Given the description of an element on the screen output the (x, y) to click on. 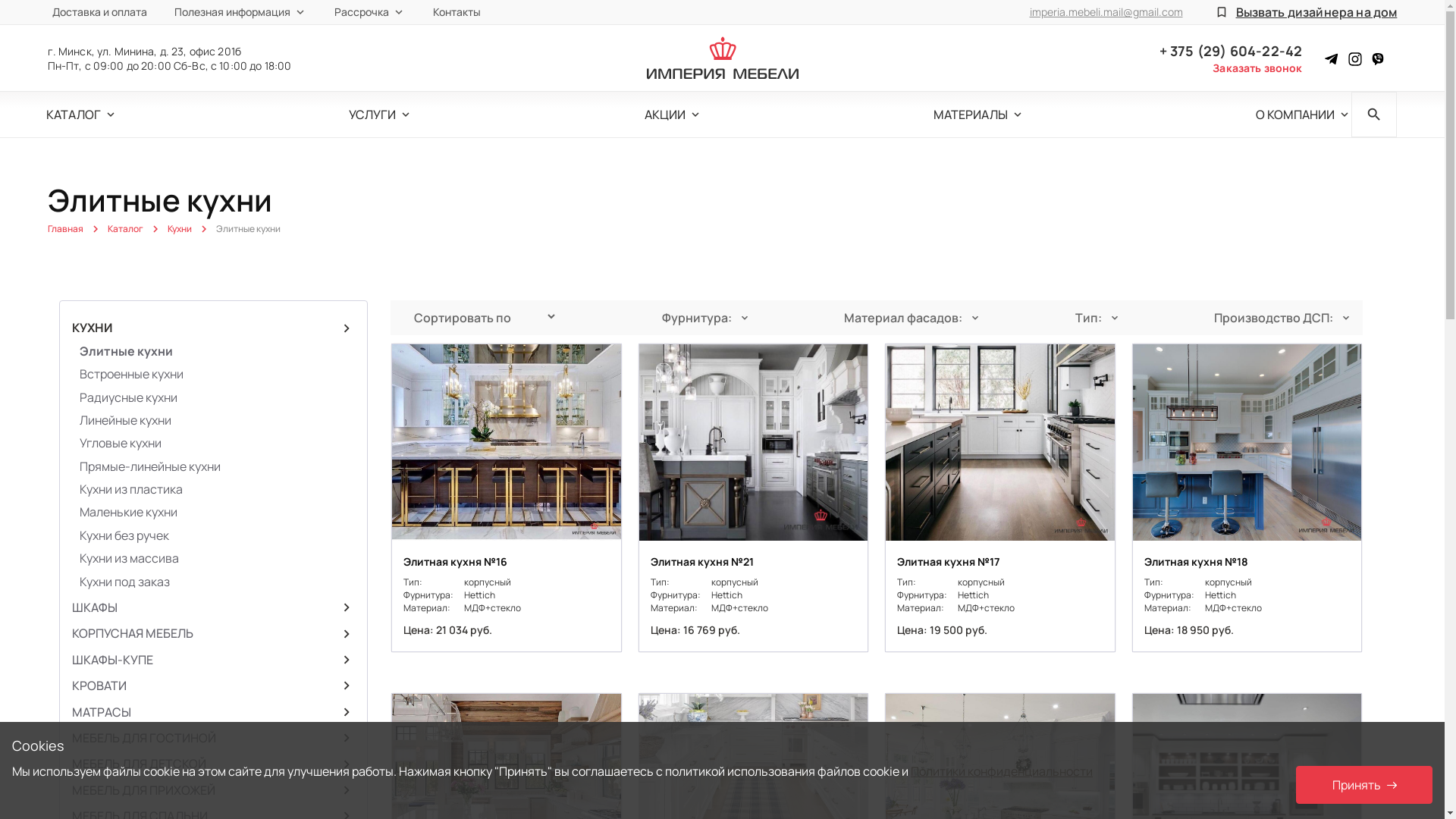
chevron_right Element type: text (213, 327)
imperia.mebeli.mail@gmail.com Element type: text (1106, 11)
Instagram Element type: hover (1331, 58)
Instagram Element type: hover (1377, 58)
Imperia Mebeli Element type: hover (721, 57)
Instagram Element type: hover (1354, 58)
expand_more Element type: text (81, 114)
+ 375 (29) 604-22-42 Element type: text (1230, 50)
